Given the description of an element on the screen output the (x, y) to click on. 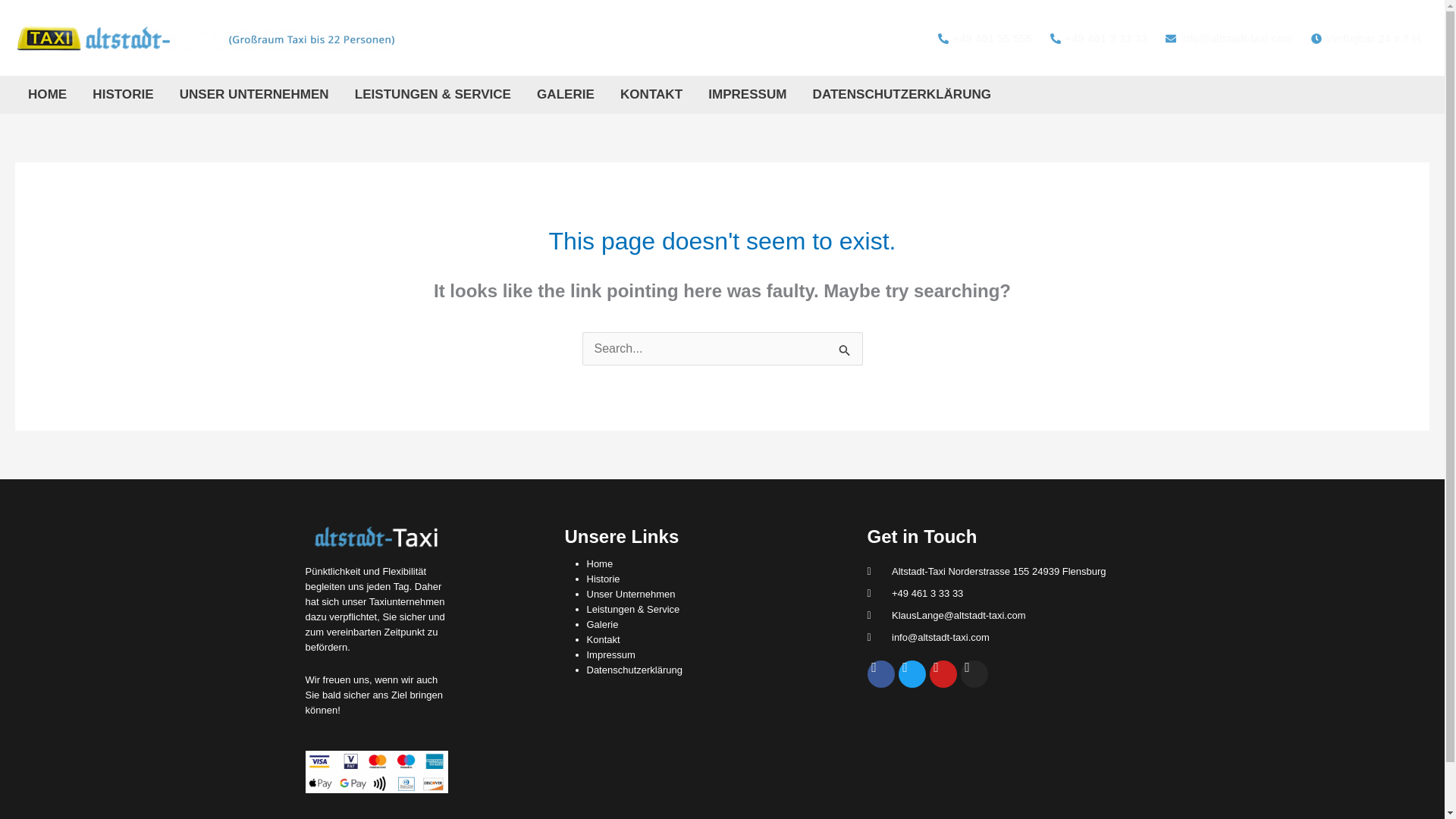
UNSER UNTERNEHMEN (254, 94)
Twitter (911, 673)
Galerie (602, 624)
HOME (47, 94)
Kontakt (603, 639)
Historie (603, 578)
Home (599, 563)
Impressum (610, 654)
Unser Unternehmen (630, 593)
HISTORIE (122, 94)
